Given the description of an element on the screen output the (x, y) to click on. 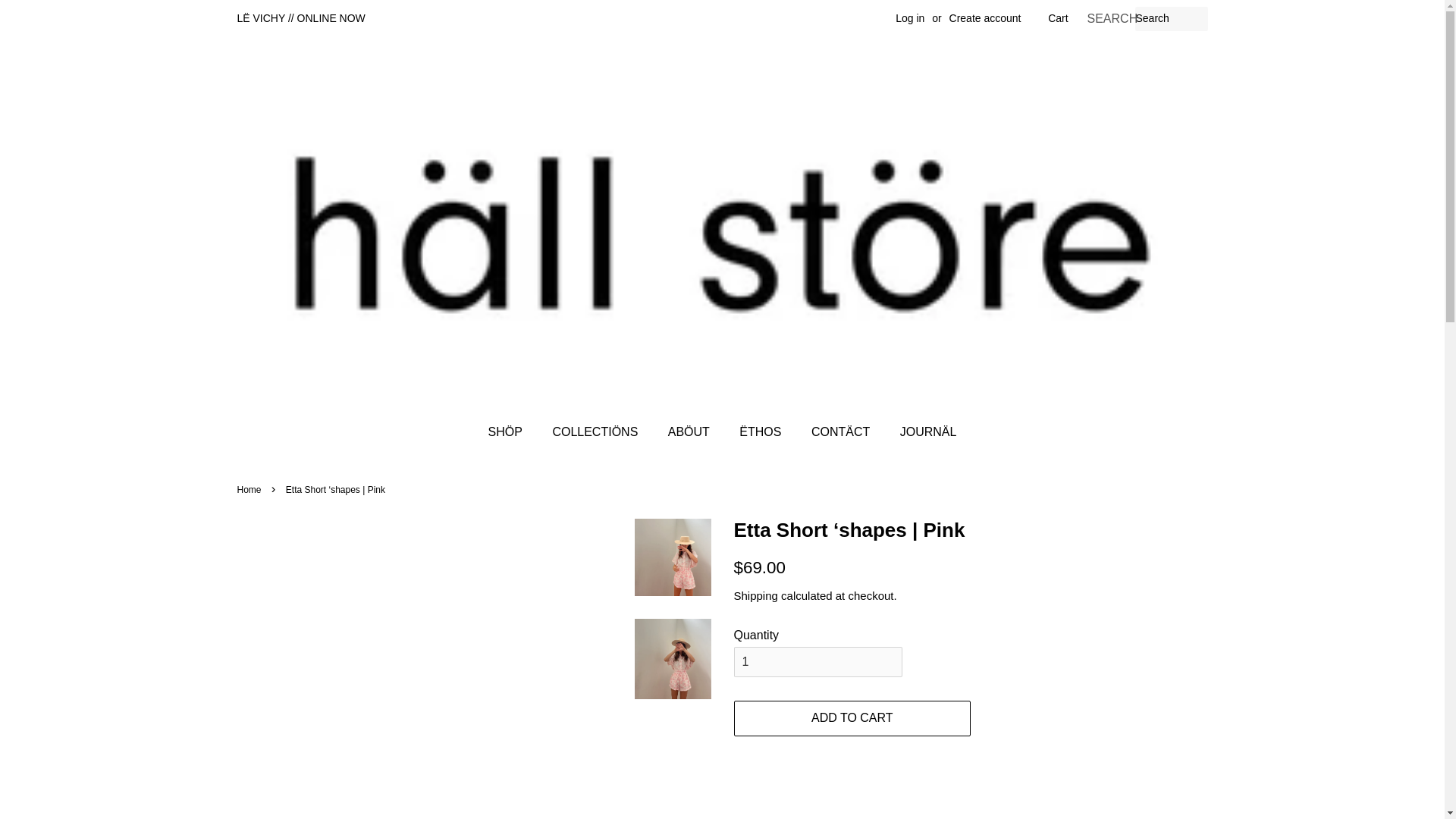
ADD TO CART (852, 718)
Log in (909, 18)
Cart (1057, 18)
Create account (985, 18)
1 (817, 662)
Home (249, 489)
Shipping (755, 594)
Back to the frontpage (249, 489)
SEARCH (1110, 18)
